Given the description of an element on the screen output the (x, y) to click on. 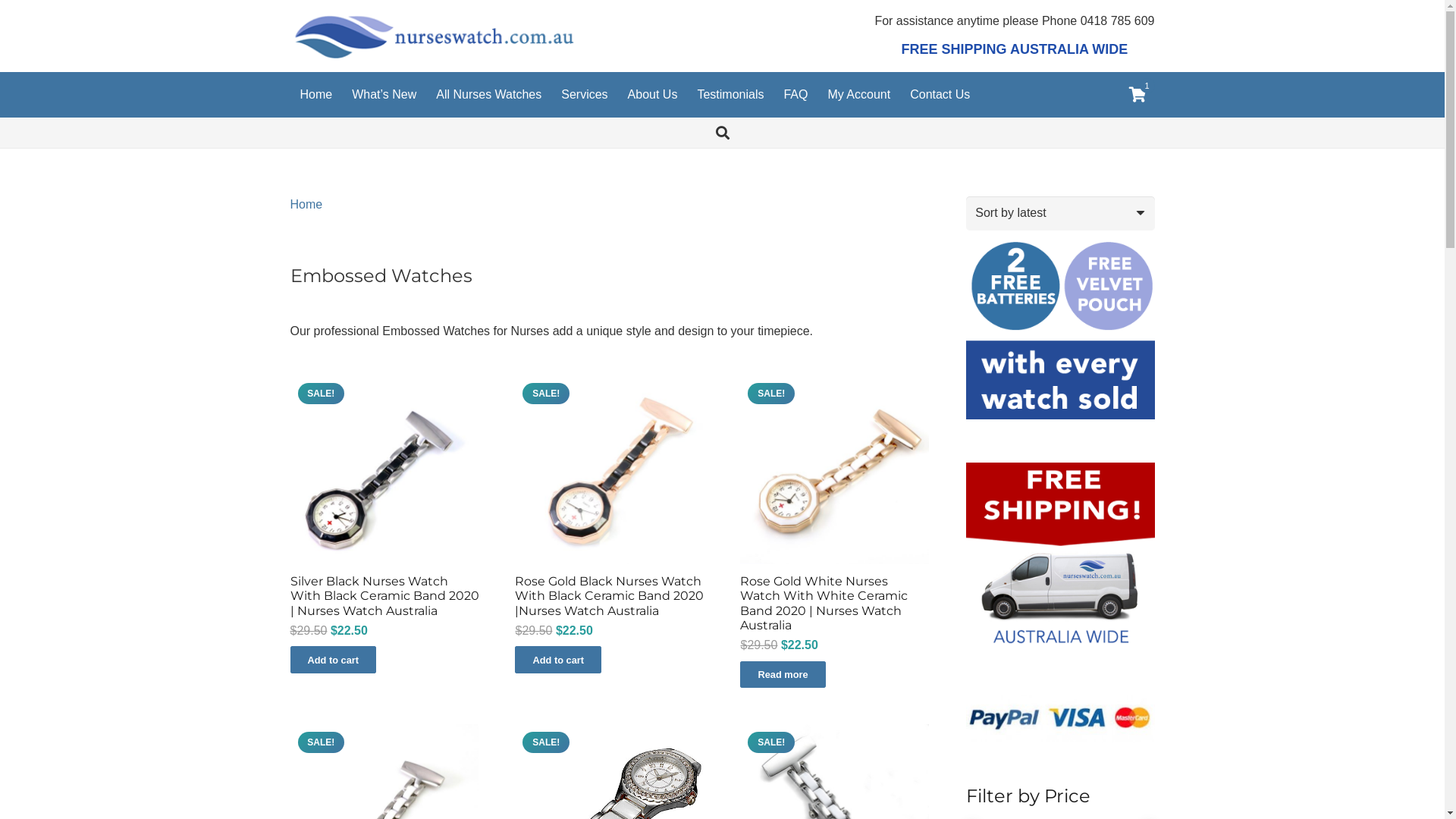
About Us Element type: text (652, 94)
Read more Element type: text (782, 674)
Home Element type: text (315, 94)
1 Element type: text (1137, 94)
Add to cart Element type: text (332, 659)
FAQ Element type: text (795, 94)
Services Element type: text (584, 94)
My Account Element type: text (858, 94)
Home Element type: text (305, 203)
Add to cart Element type: text (557, 659)
All Nurses Watches Element type: text (488, 94)
Contact Us Element type: text (939, 94)
Testimonials Element type: text (730, 94)
